Given the description of an element on the screen output the (x, y) to click on. 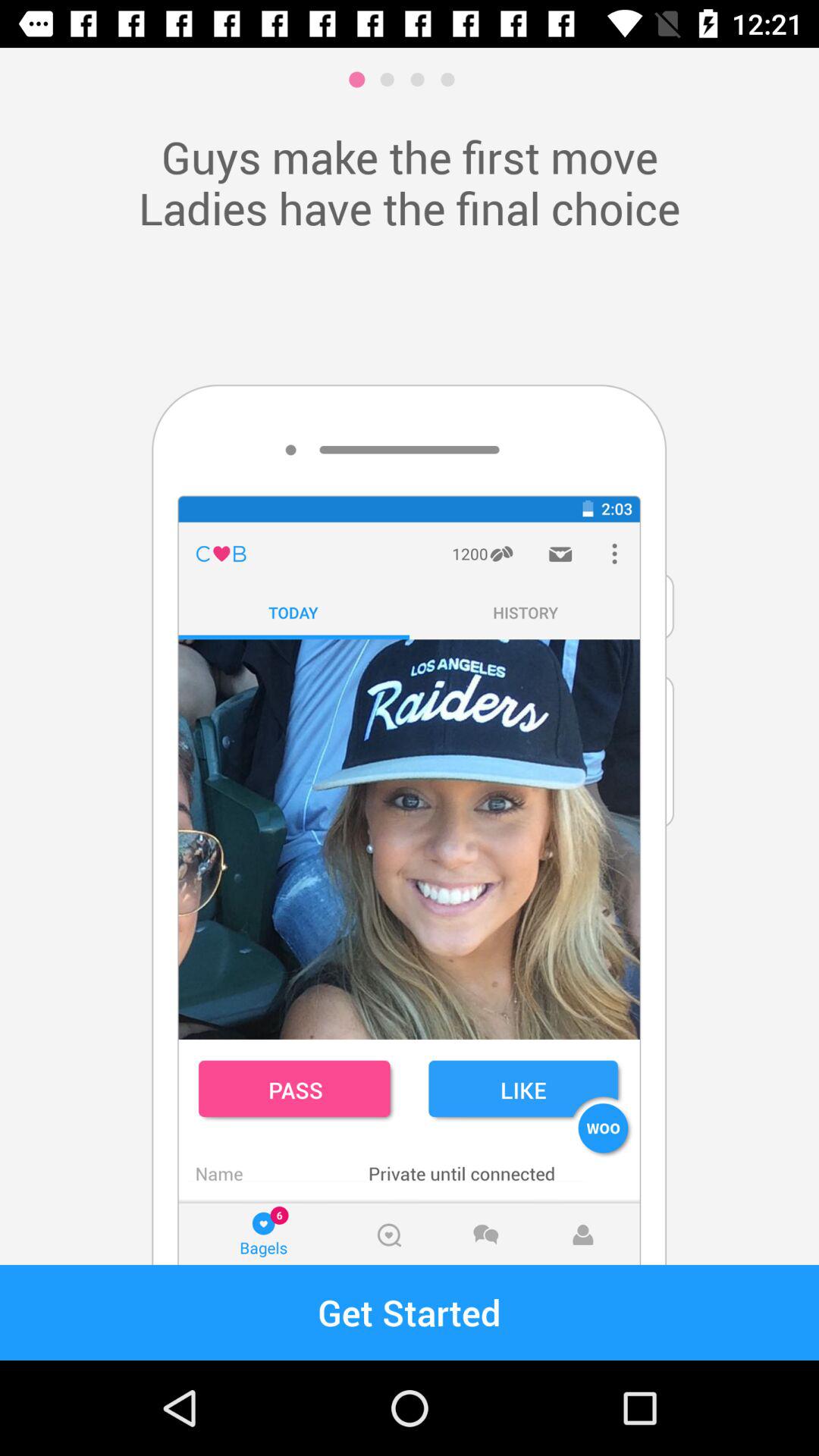
select the get started (409, 1312)
